Given the description of an element on the screen output the (x, y) to click on. 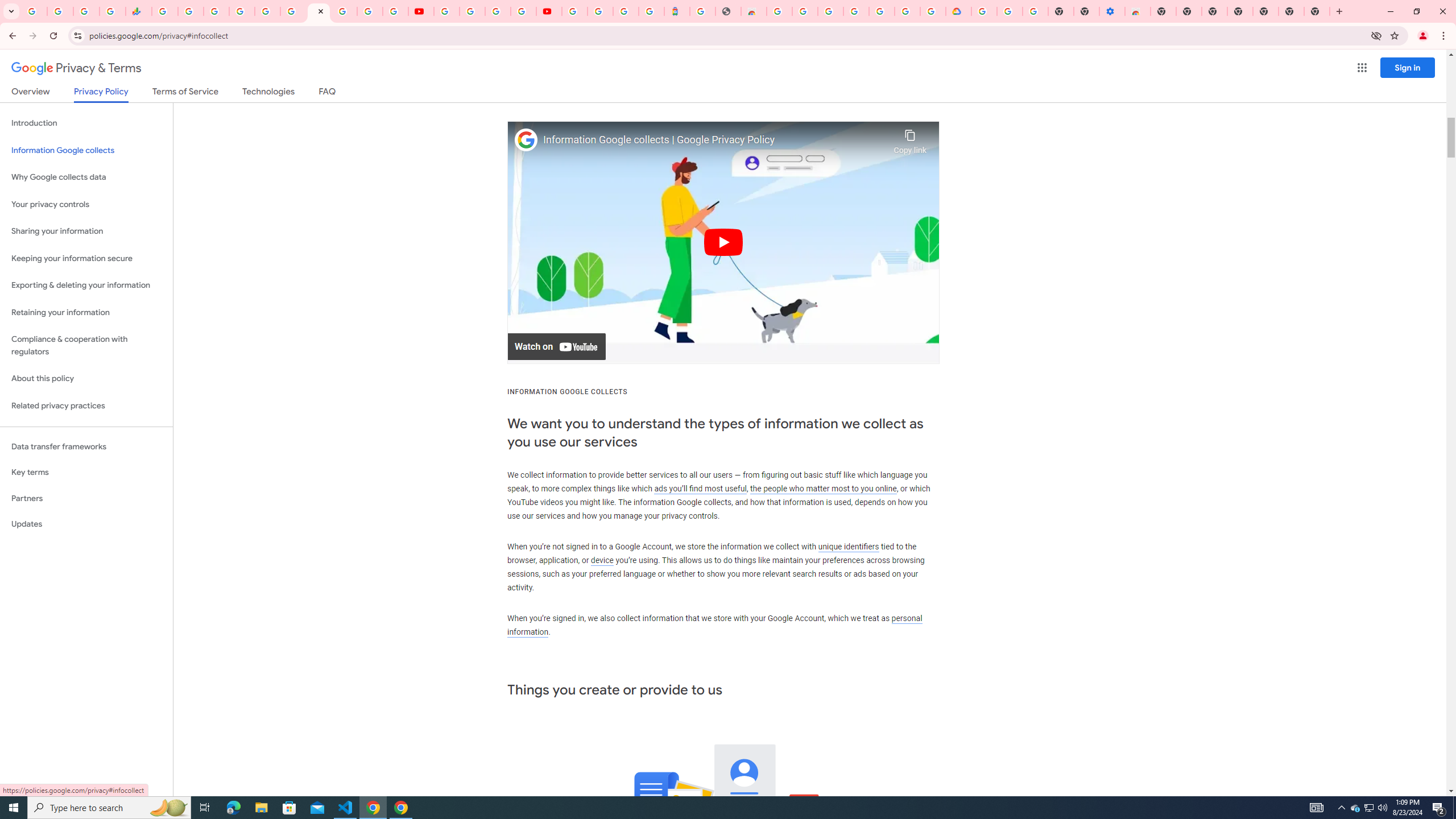
unique identifiers (848, 546)
Related privacy practices (86, 405)
Privacy Checkup (395, 11)
Content Creator Programs & Opportunities - YouTube Creators (548, 11)
Sharing your information (86, 230)
Technologies (268, 93)
Privacy Policy (100, 94)
Google Account Help (1009, 11)
About this policy (86, 379)
